Given the description of an element on the screen output the (x, y) to click on. 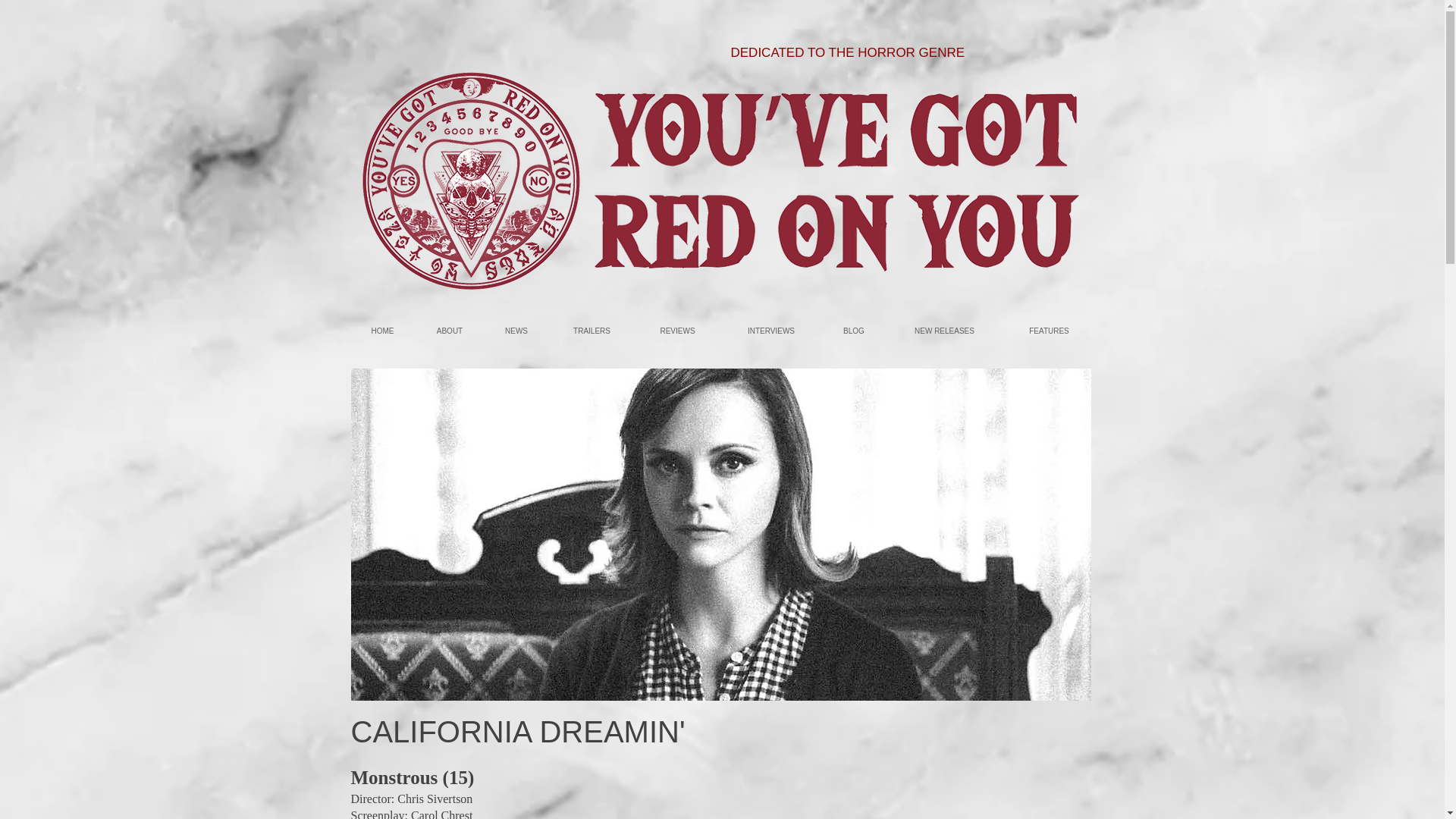
REVIEWS (676, 331)
HOME (381, 331)
INTERVIEWS (770, 331)
TRAILERS (590, 331)
ABOUT (448, 331)
NEW RELEASES (943, 331)
Carol Chrest (440, 814)
BLOG (854, 331)
Chris Sivertson (434, 798)
NEWS (516, 331)
FEATURES (1048, 331)
